Given the description of an element on the screen output the (x, y) to click on. 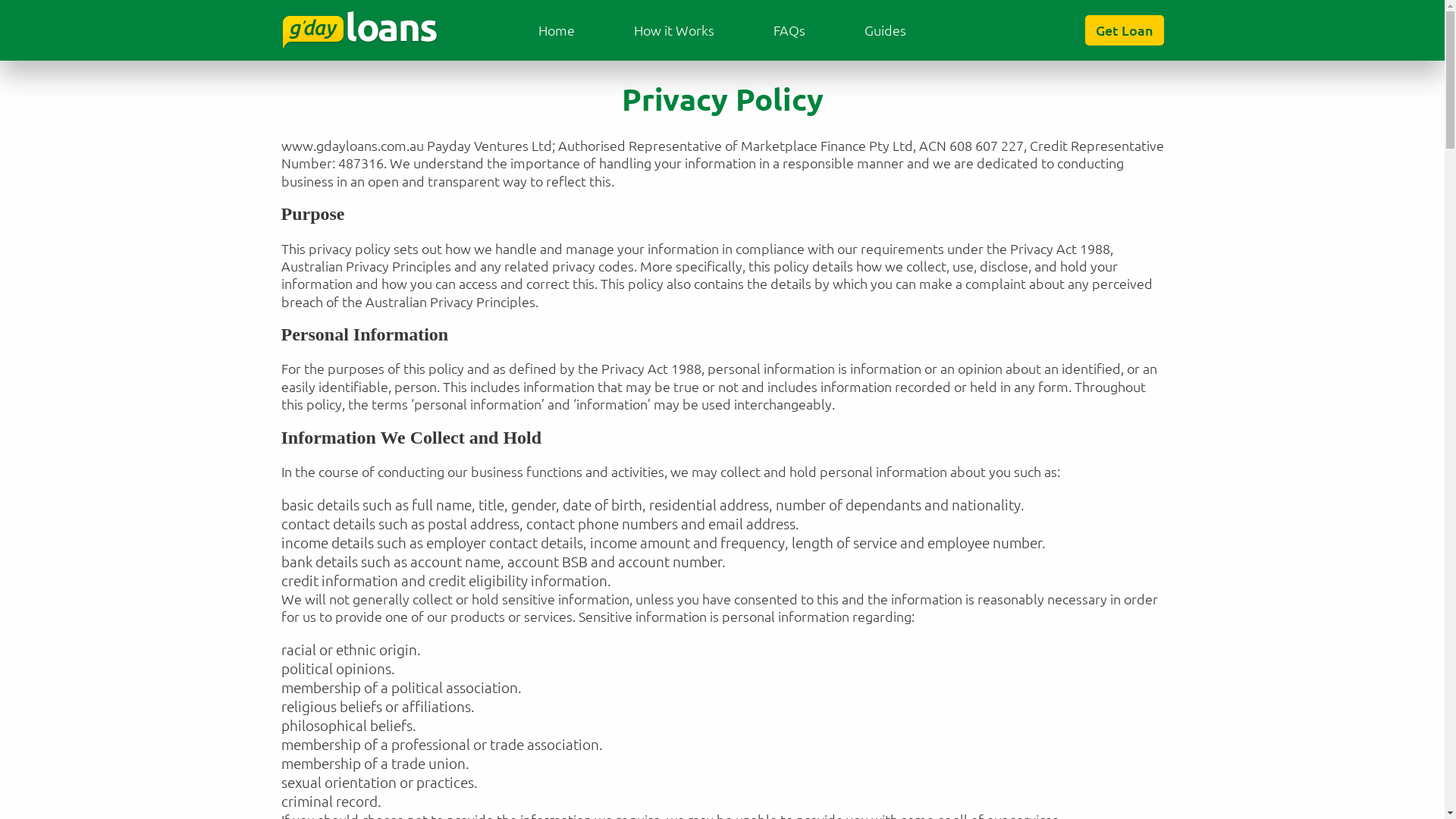
Get Loan Element type: text (1123, 30)
Home Element type: text (555, 30)
Guides Element type: text (884, 30)
FAQs Element type: text (788, 30)
How it Works Element type: text (673, 30)
